Given the description of an element on the screen output the (x, y) to click on. 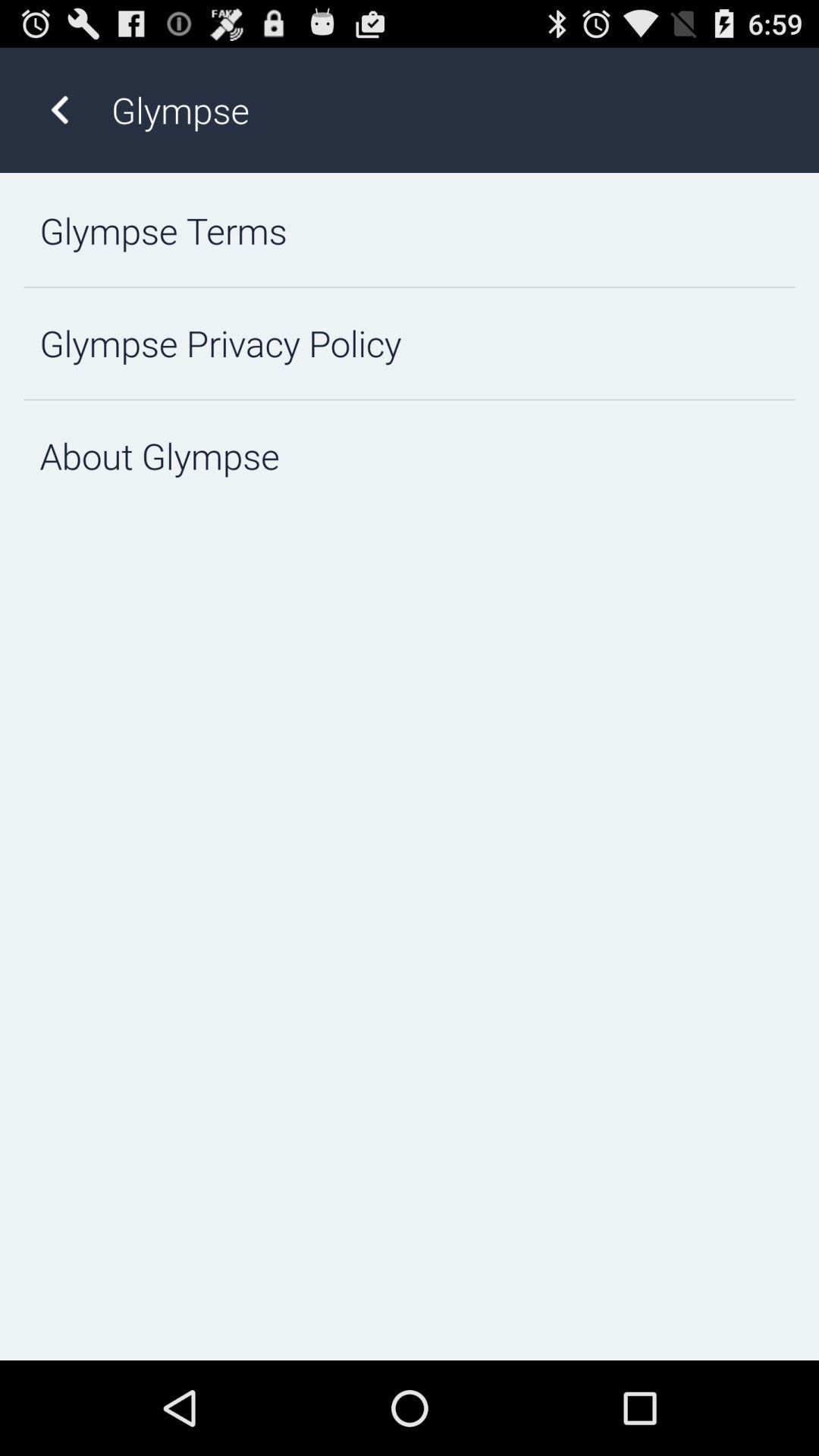
turn off the glympse privacy policy icon (409, 343)
